Given the description of an element on the screen output the (x, y) to click on. 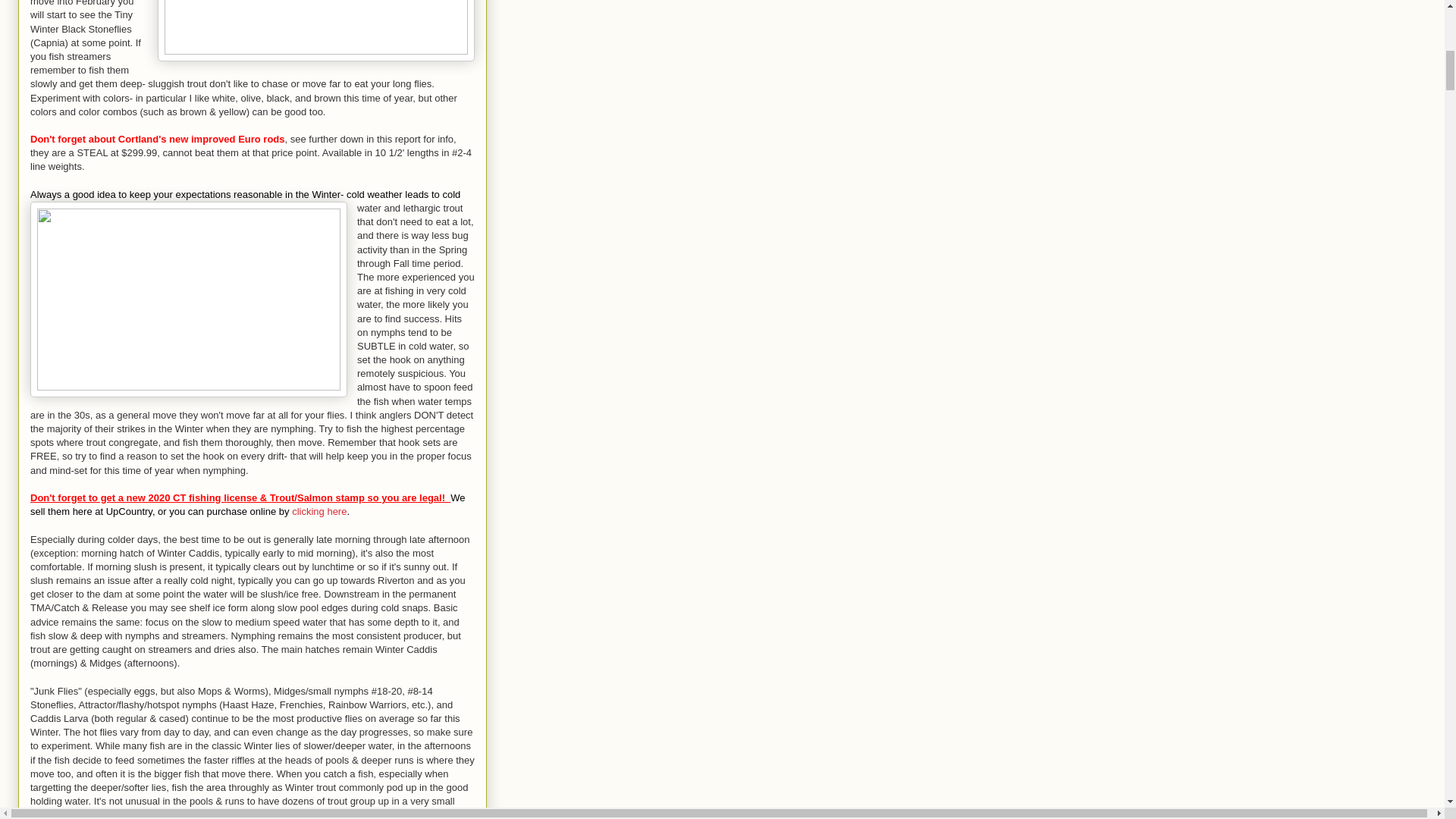
clicking here (319, 511)
